Given the description of an element on the screen output the (x, y) to click on. 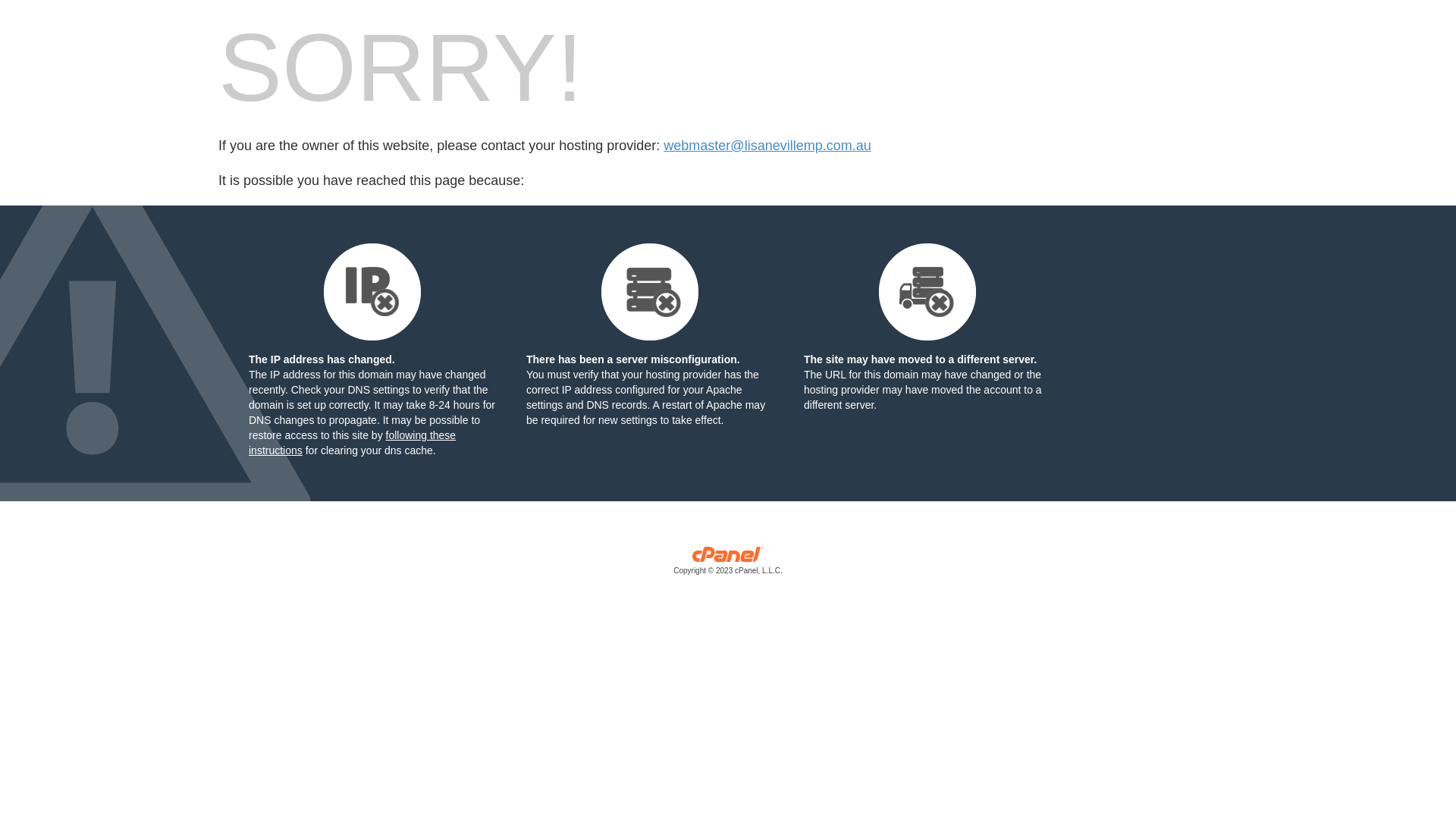
webmaster@lisanevillemp.com.au Element type: text (766, 145)
following these instructions Element type: text (351, 442)
